Given the description of an element on the screen output the (x, y) to click on. 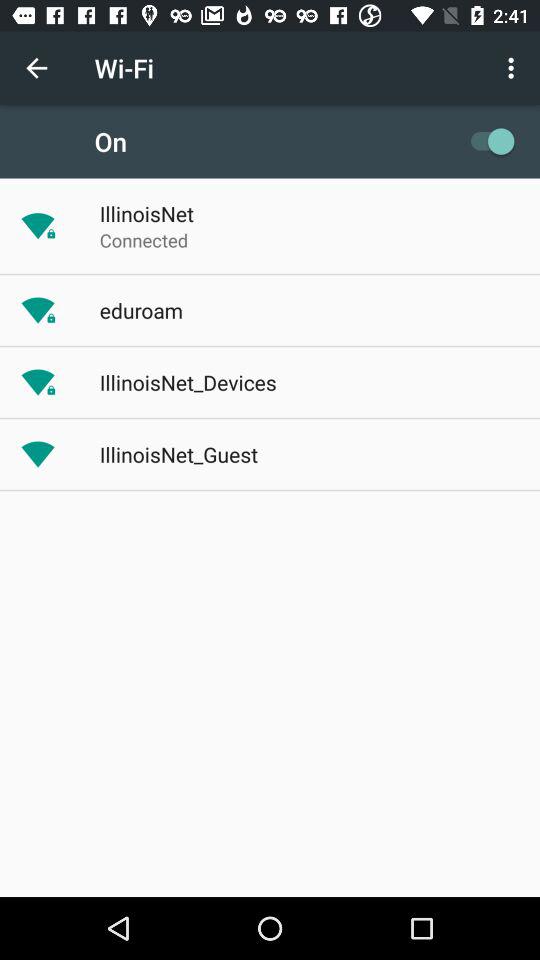
open app below connected item (140, 310)
